Given the description of an element on the screen output the (x, y) to click on. 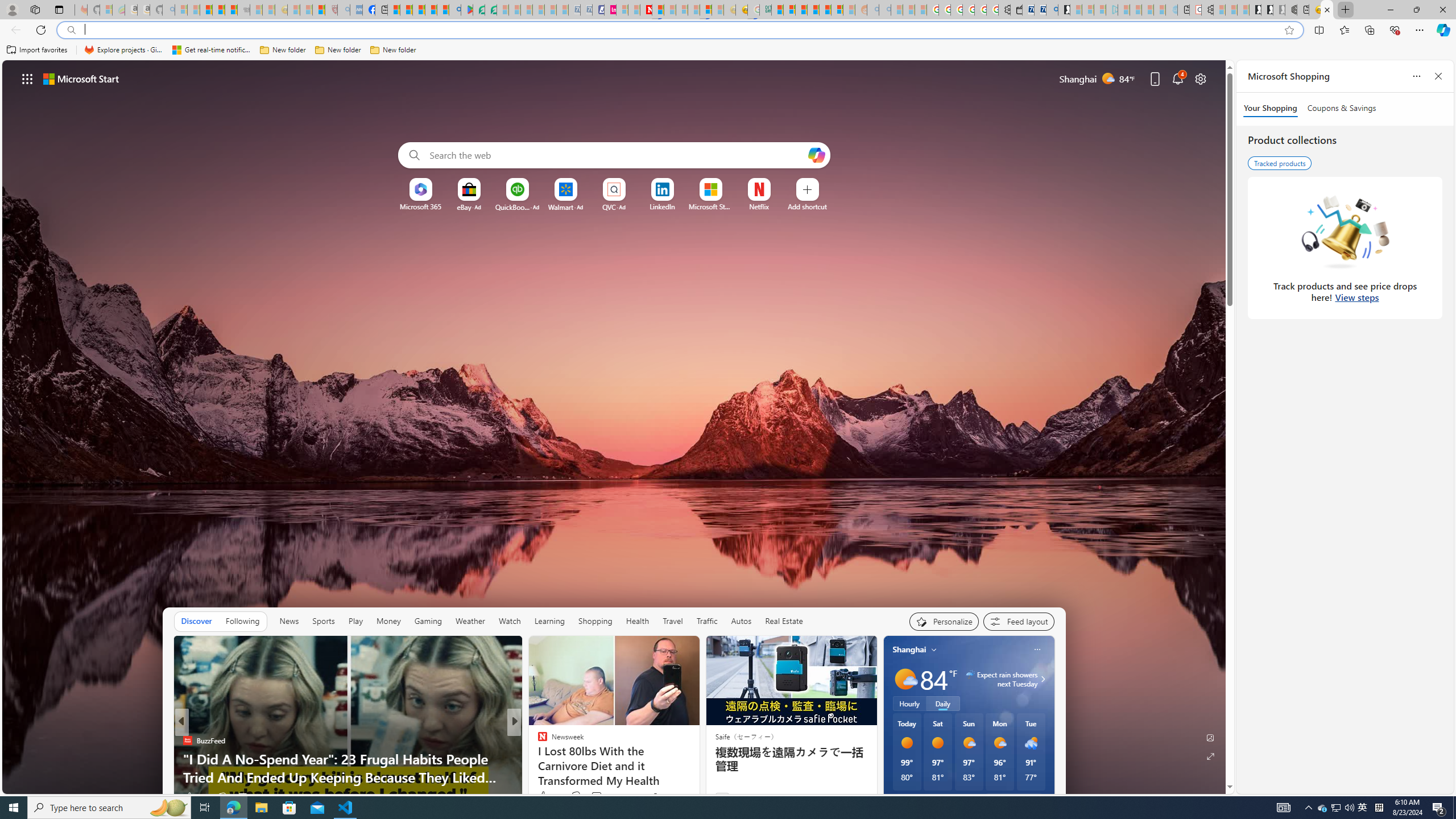
Sunny (937, 742)
Jobs - lastminute.com Investor Portal (610, 9)
